Given the description of an element on the screen output the (x, y) to click on. 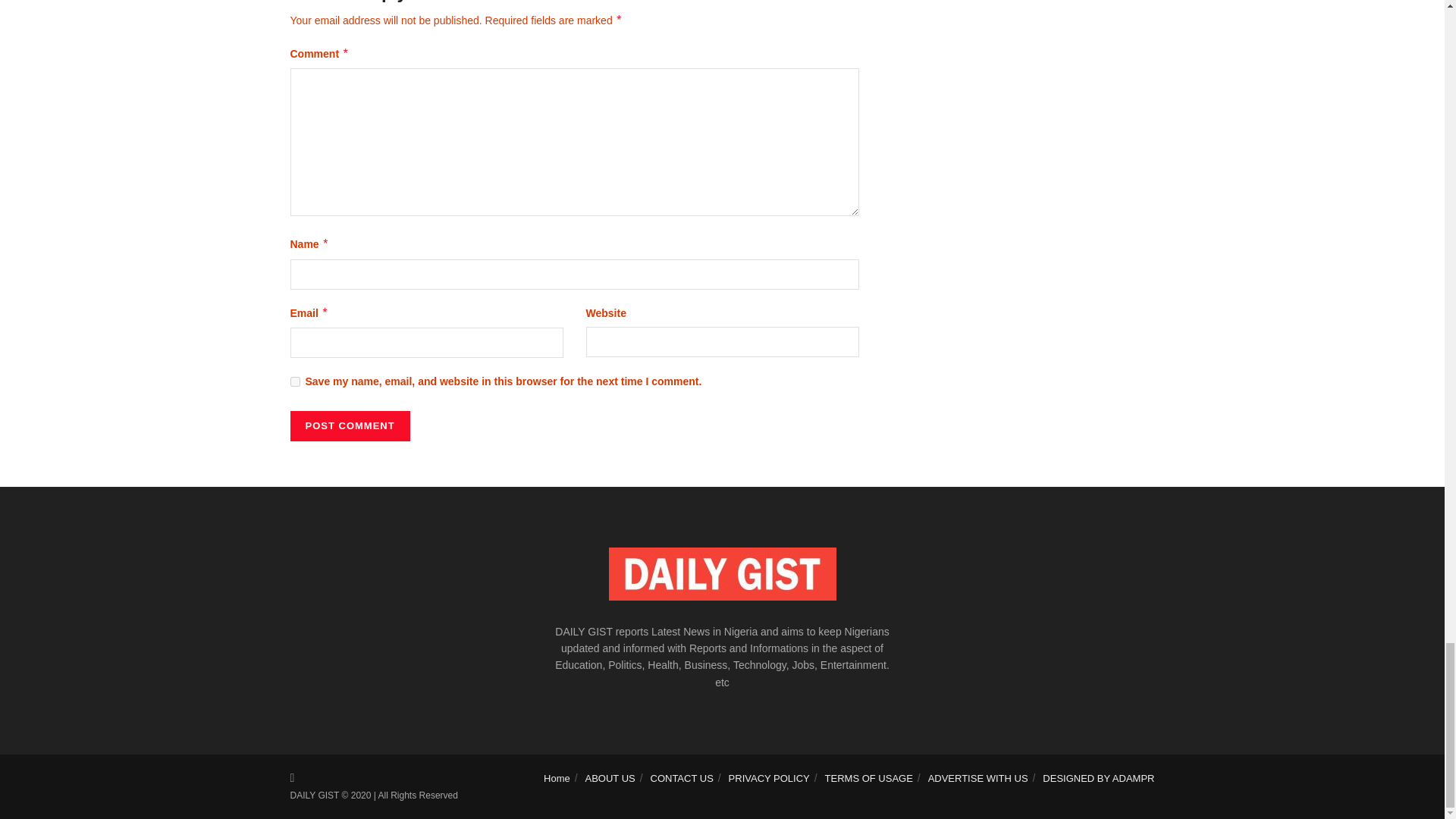
Post Comment (349, 426)
yes (294, 381)
